Given the description of an element on the screen output the (x, y) to click on. 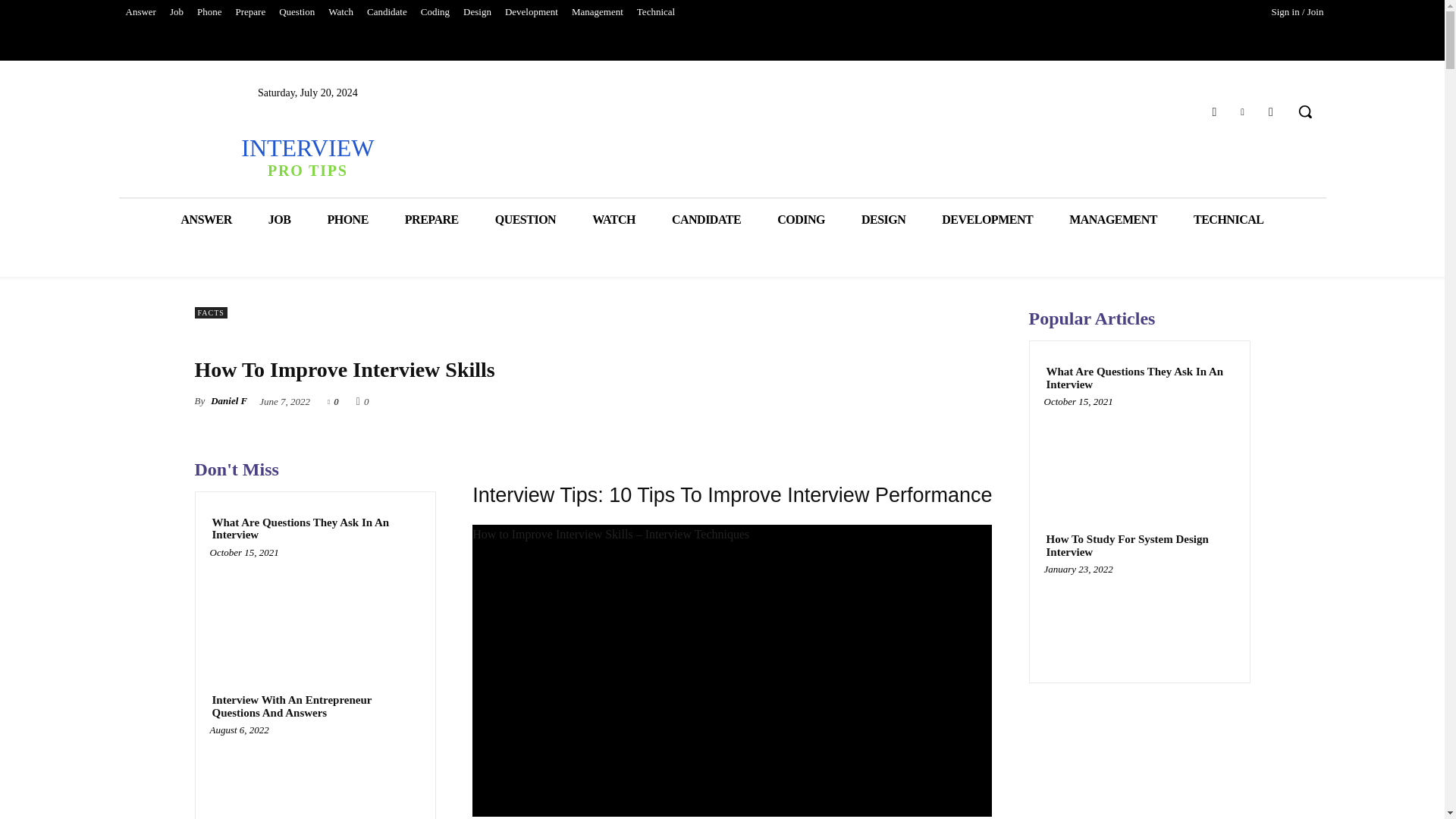
What Are Questions They Ask In An Interview (314, 528)
Interview With An Entrepreneur Questions And Answers (314, 776)
Technical (655, 12)
Interview With An Entrepreneur Questions And Answers (314, 706)
Question (296, 12)
Facebook (1214, 111)
Watch (340, 12)
Youtube (1270, 111)
Answer (139, 12)
Twitter (1241, 111)
Phone (306, 156)
Development (209, 12)
Prepare (530, 12)
What Are Questions They Ask In An Interview (250, 12)
